Given the description of an element on the screen output the (x, y) to click on. 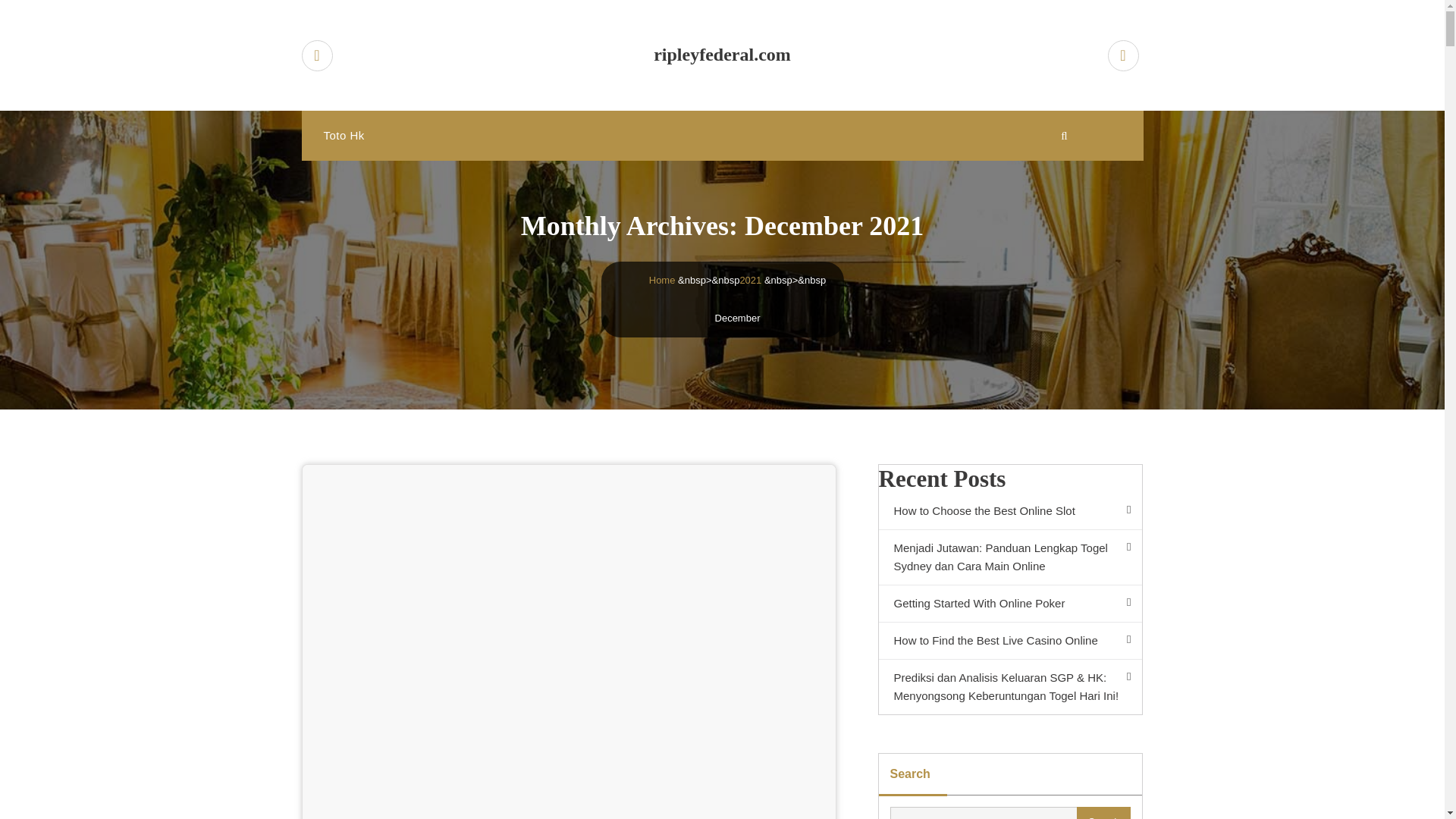
Toto Hk (343, 135)
2021 (750, 279)
Toto Hk (343, 135)
What You Need to Know About Online Gambling (459, 543)
Gambling (354, 505)
ripleyfederal.com (722, 54)
Home (662, 279)
